Given the description of an element on the screen output the (x, y) to click on. 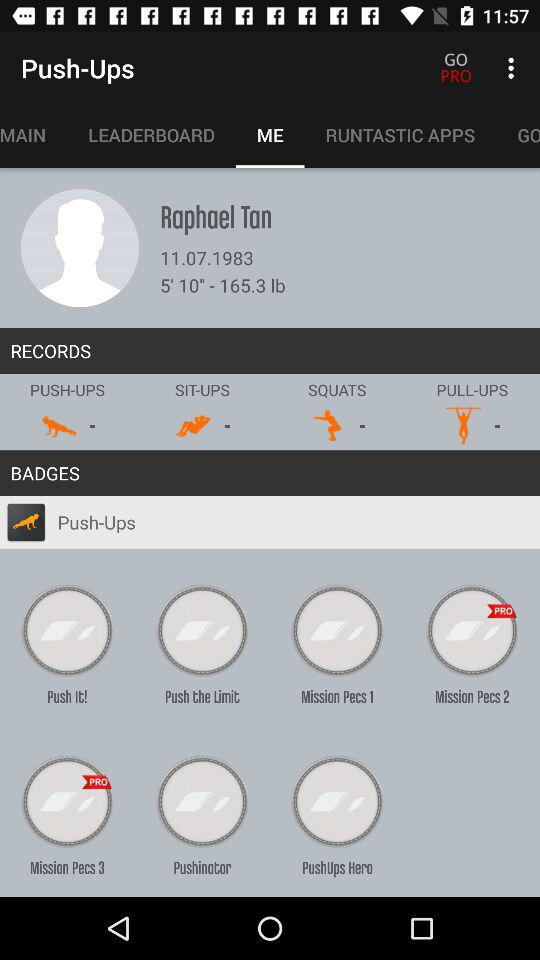
click the item above the runtastic apps item (513, 67)
